Given the description of an element on the screen output the (x, y) to click on. 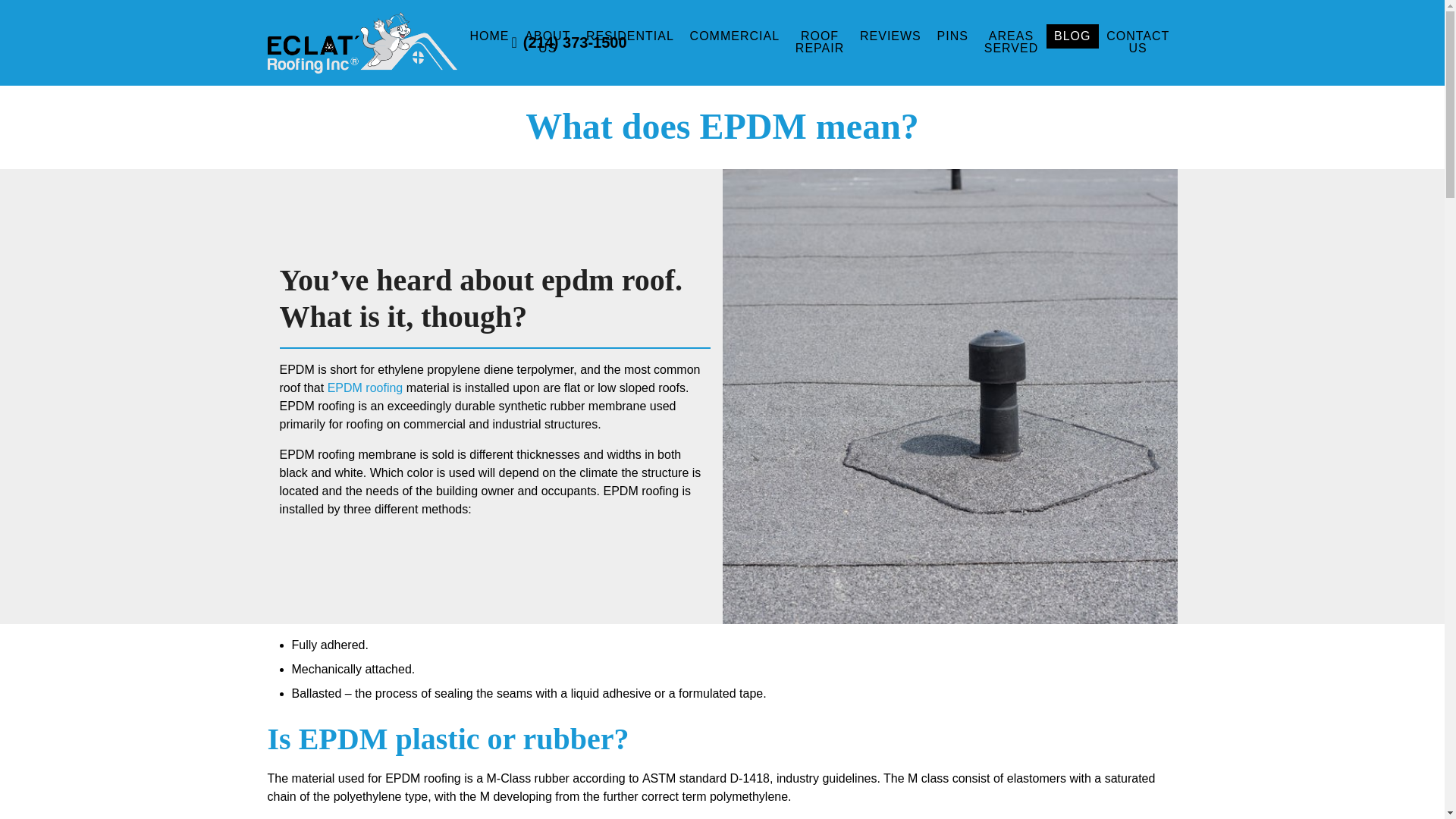
HOME (488, 36)
ABOUT US (547, 42)
REVIEWS (890, 36)
RESIDENTIAL (629, 36)
PINS (951, 36)
ROOF REPAIR (819, 42)
COMMERCIAL (734, 36)
Go to Home (288, 72)
AREAS SERVED (1010, 42)
